Given the description of an element on the screen output the (x, y) to click on. 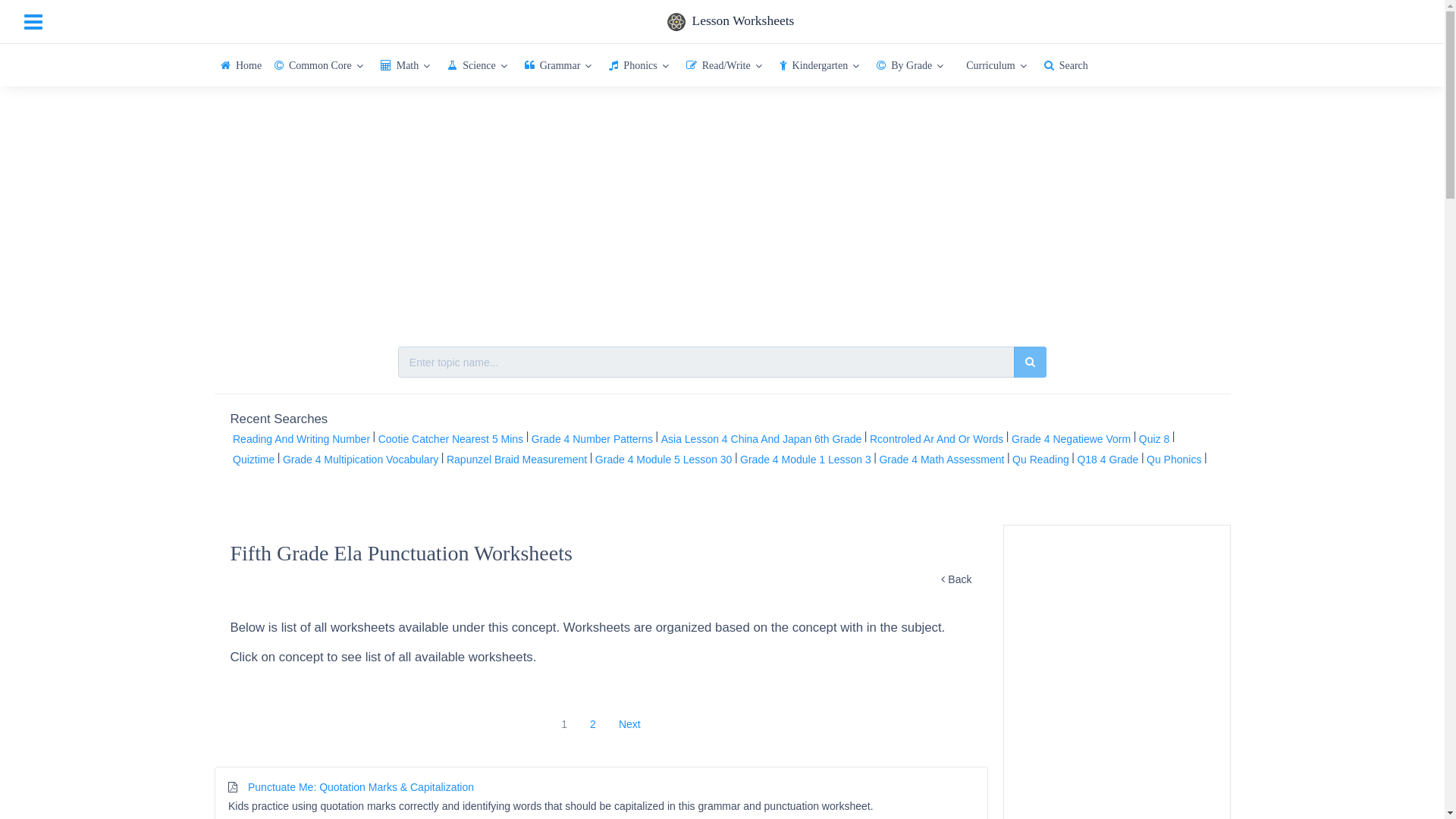
Home (240, 65)
Math (407, 65)
Common Core (320, 65)
Lesson Worksheets (729, 22)
